Given the description of an element on the screen output the (x, y) to click on. 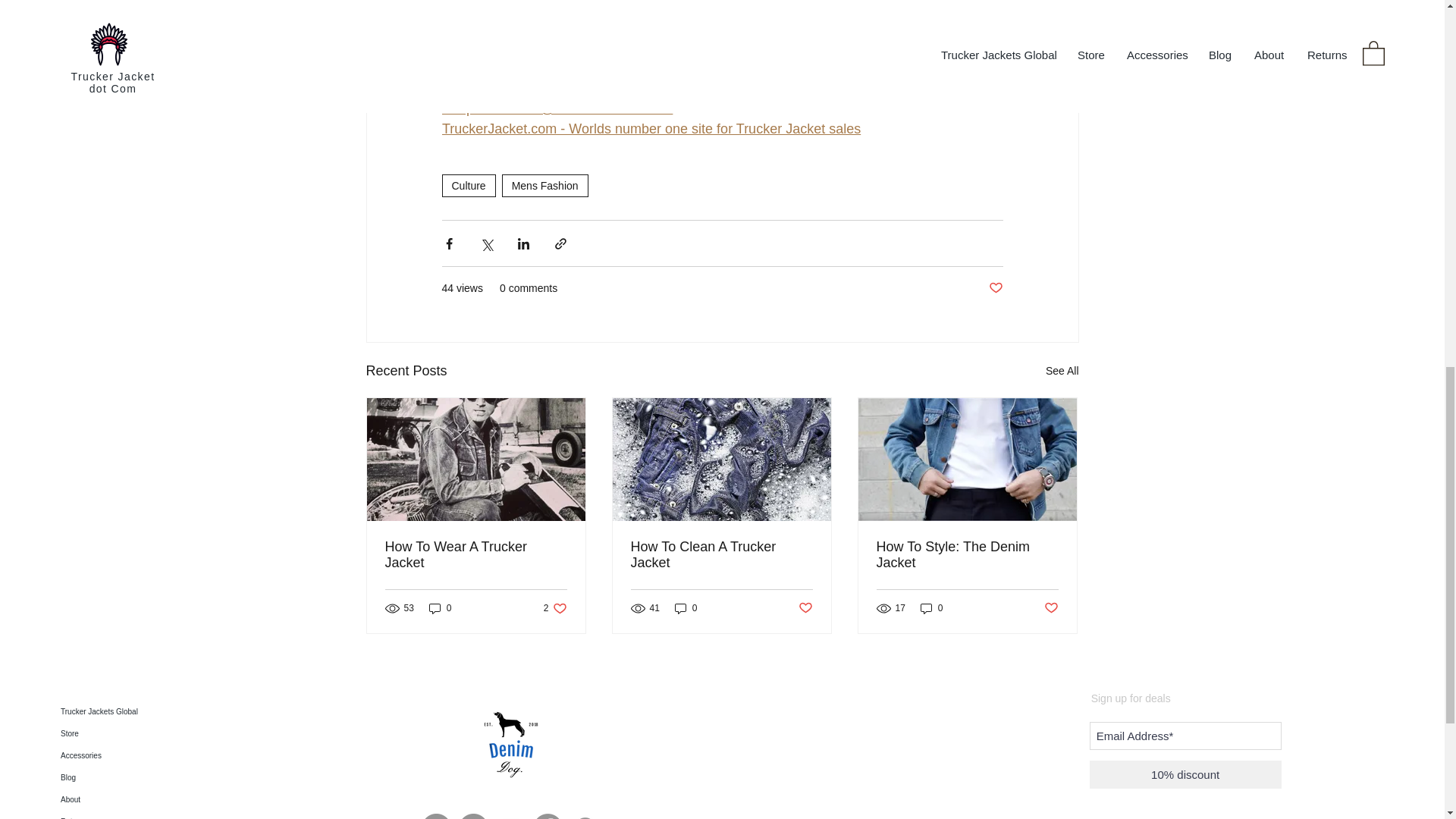
Return to Blog (484, 67)
Culture (468, 185)
Mens Fashion (545, 185)
0 (440, 608)
00:53 (458, 26)
Post not marked as liked (995, 288)
See All (555, 608)
0 (1061, 371)
How To Wear A Trucker Jacket (685, 608)
00:27 (476, 554)
How To Clean A Trucker Jacket (458, 6)
Post not marked as liked (721, 554)
